Given the description of an element on the screen output the (x, y) to click on. 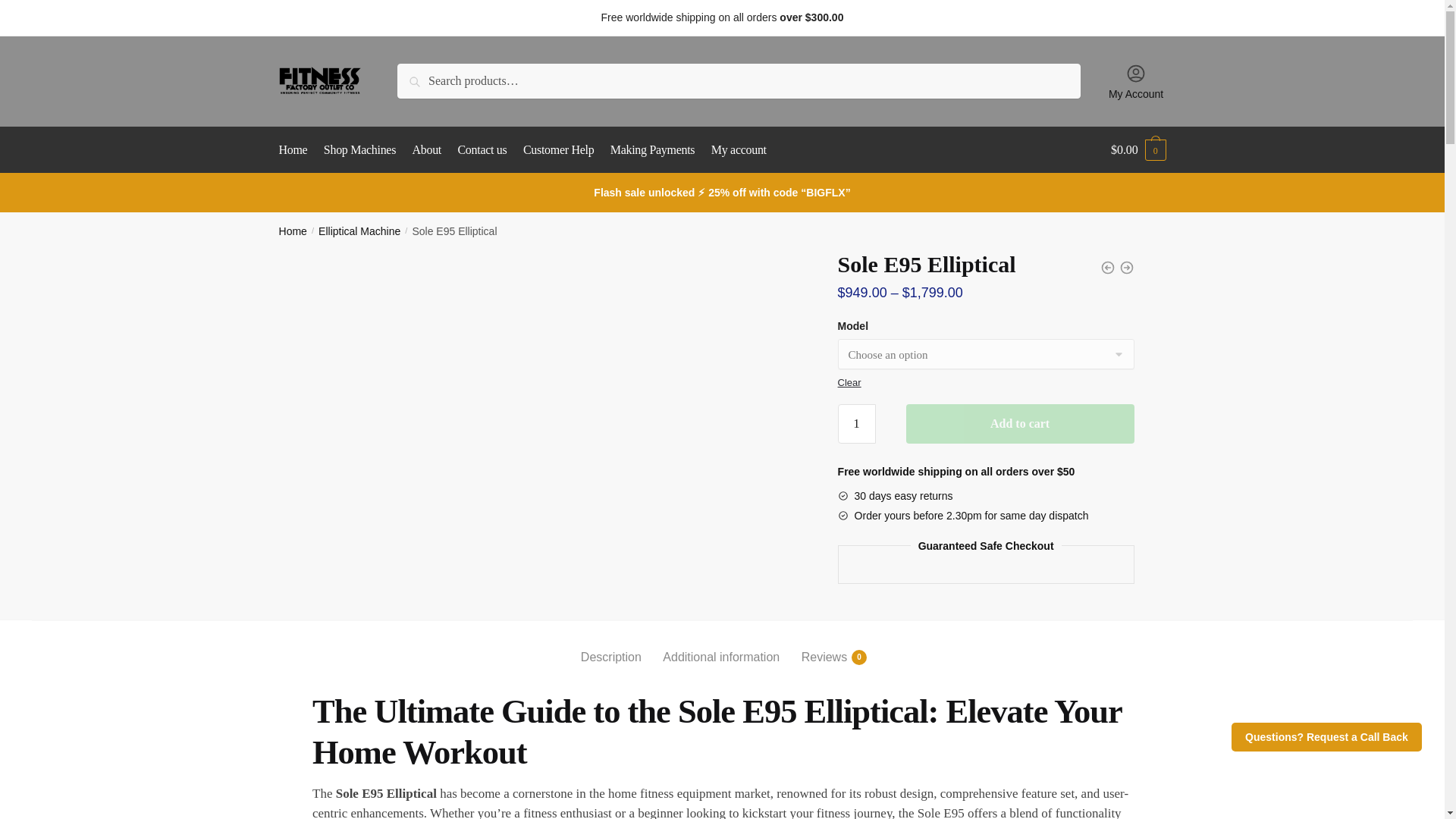
Description (611, 644)
My account (738, 149)
Additional information (720, 644)
1 (857, 423)
Contact us (481, 149)
My Account (1136, 80)
Questions? Request a Call Back (1326, 736)
Search (432, 80)
Shop Machines (359, 149)
View your shopping cart (1138, 149)
Customer Help (557, 149)
About (824, 644)
Clear (427, 149)
Elliptical Machine (849, 382)
